Given the description of an element on the screen output the (x, y) to click on. 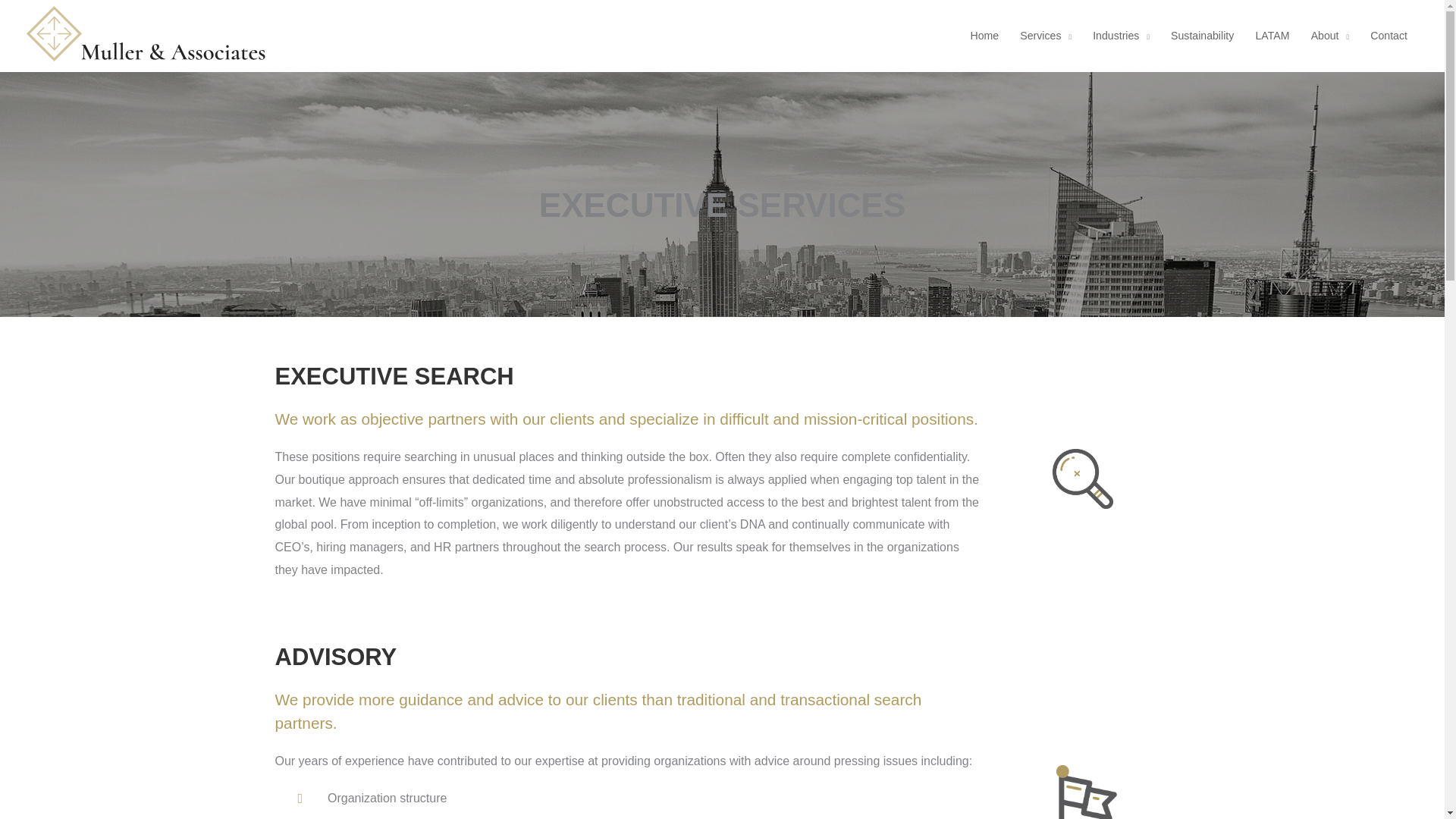
Services (1045, 35)
LATAM (1272, 35)
About (1329, 35)
Industries (1120, 35)
Contact (1388, 35)
Home (984, 35)
Sustainability (1202, 35)
